Given the description of an element on the screen output the (x, y) to click on. 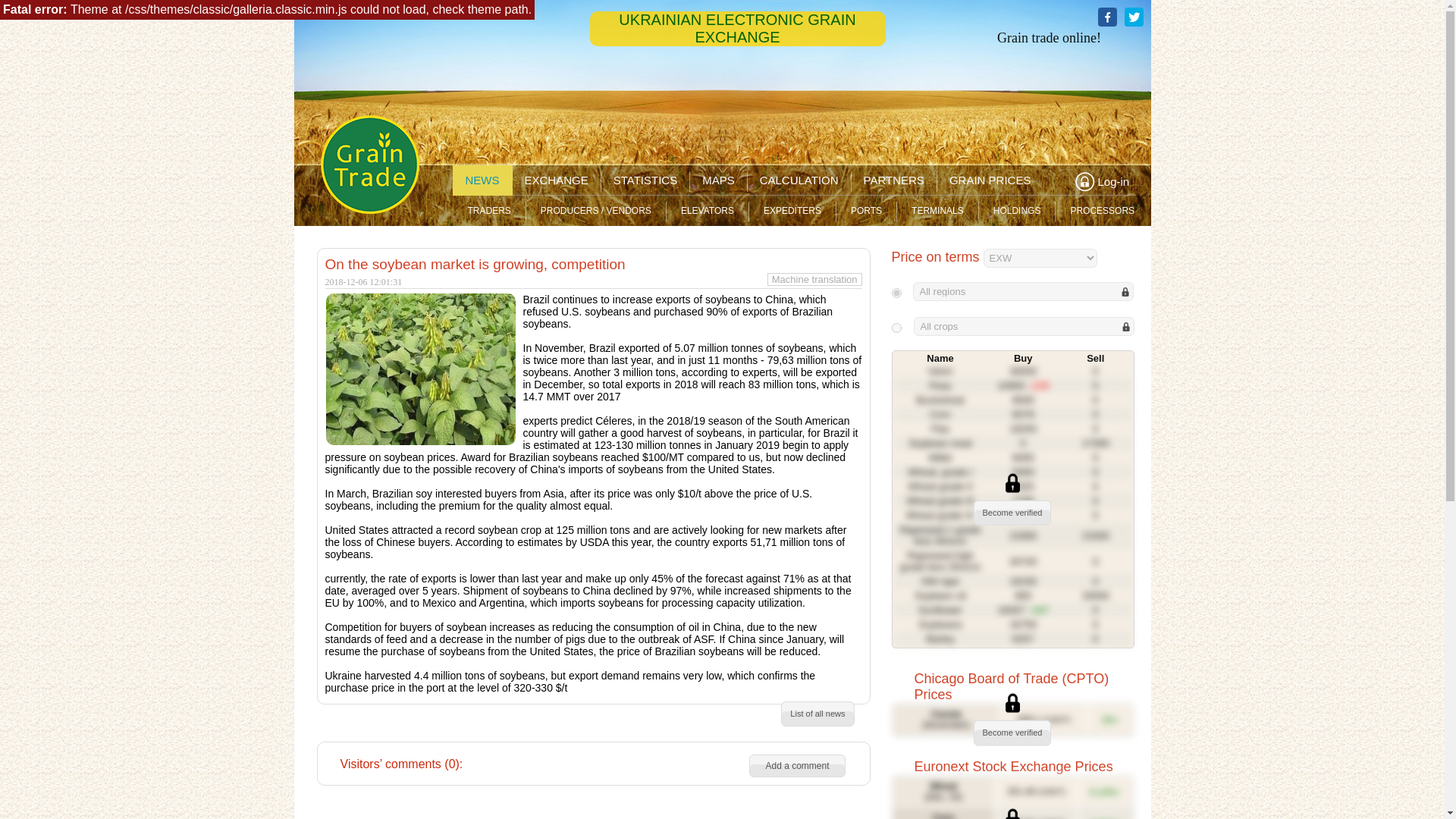
ELEVATORS (707, 210)
EXPEDITERS (791, 210)
culture (896, 293)
Log-in (1103, 181)
GRAIN PRICES (989, 180)
EXCHANGE (555, 180)
MAPS (718, 180)
region (896, 327)
PARTNERS (893, 180)
TERMINALS (937, 210)
Filter can only verified users (896, 293)
TRADERS (488, 210)
Add a comment (796, 765)
Filter can only verified users (896, 327)
Index by region  (1023, 291)
